Given the description of an element on the screen output the (x, y) to click on. 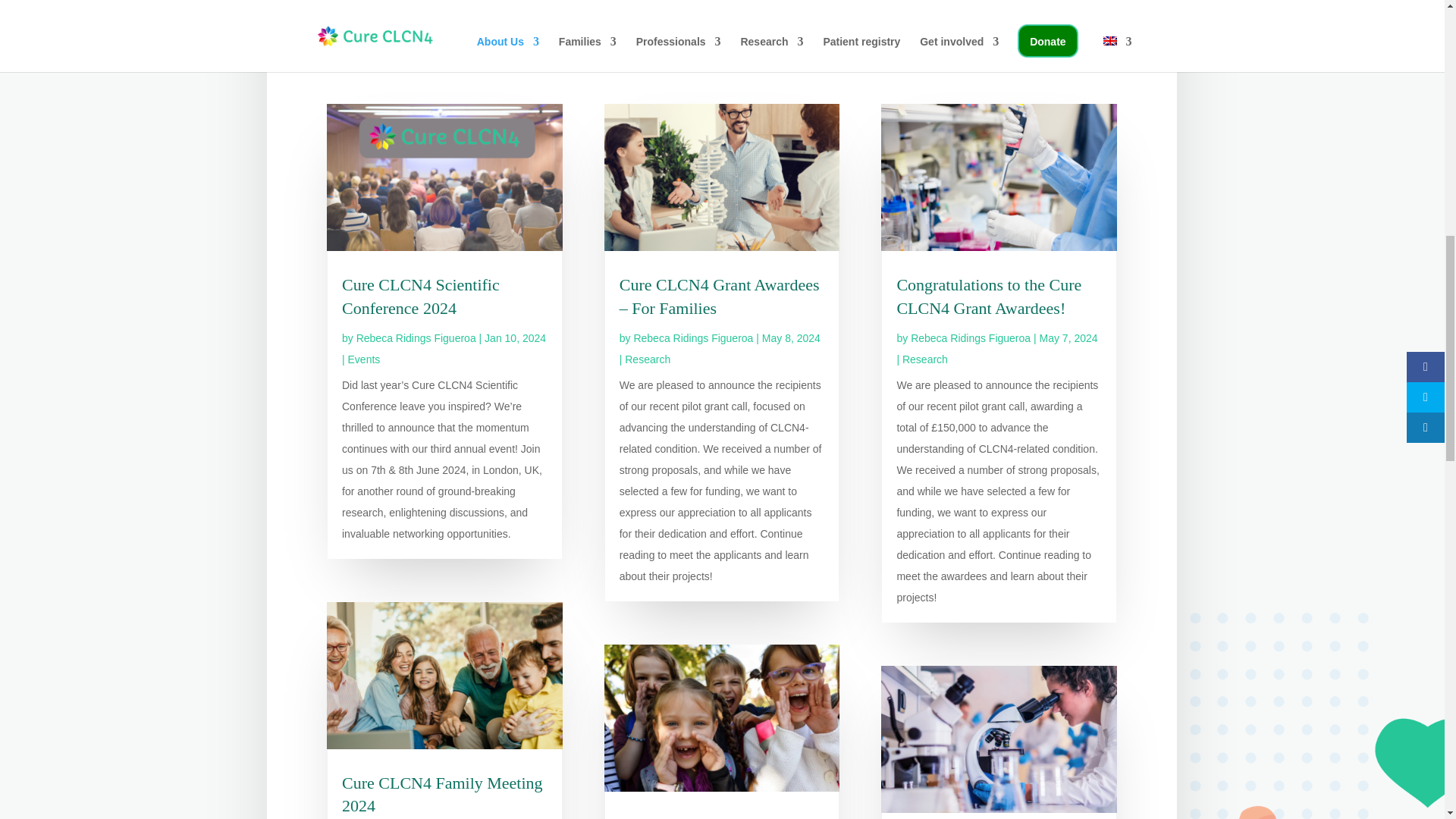
Posts by Rebeca Ridings Figueroa (416, 337)
Posts by Rebeca Ridings Figueroa (692, 337)
